Given the description of an element on the screen output the (x, y) to click on. 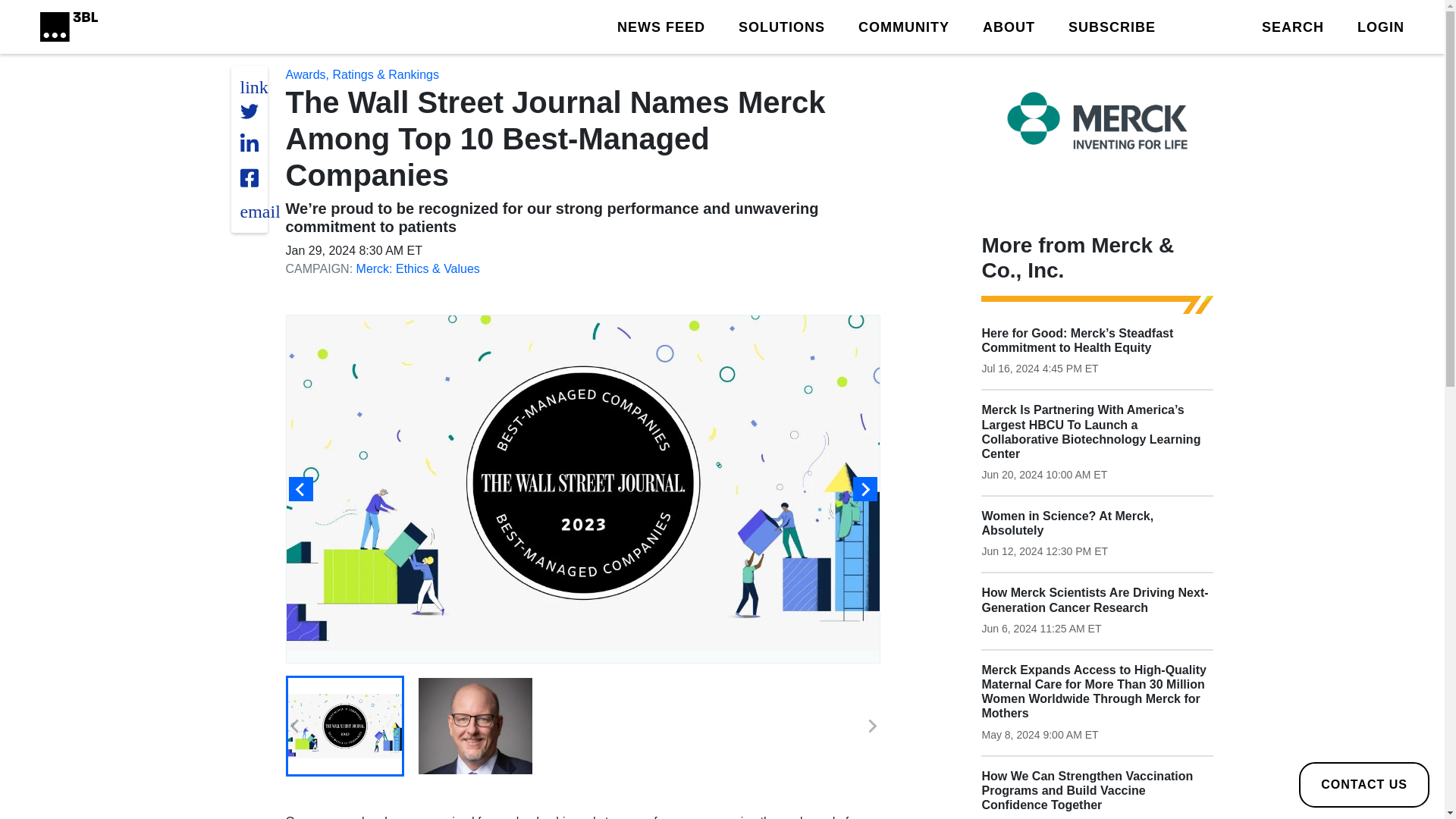
ABOUT (1008, 26)
COMMUNITY (904, 26)
SOLUTIONS (781, 26)
NEWS FEED (660, 26)
link to 3 B L Media's Twitter (253, 87)
SUBSCRIBE (1112, 26)
Share via email (259, 211)
